Given the description of an element on the screen output the (x, y) to click on. 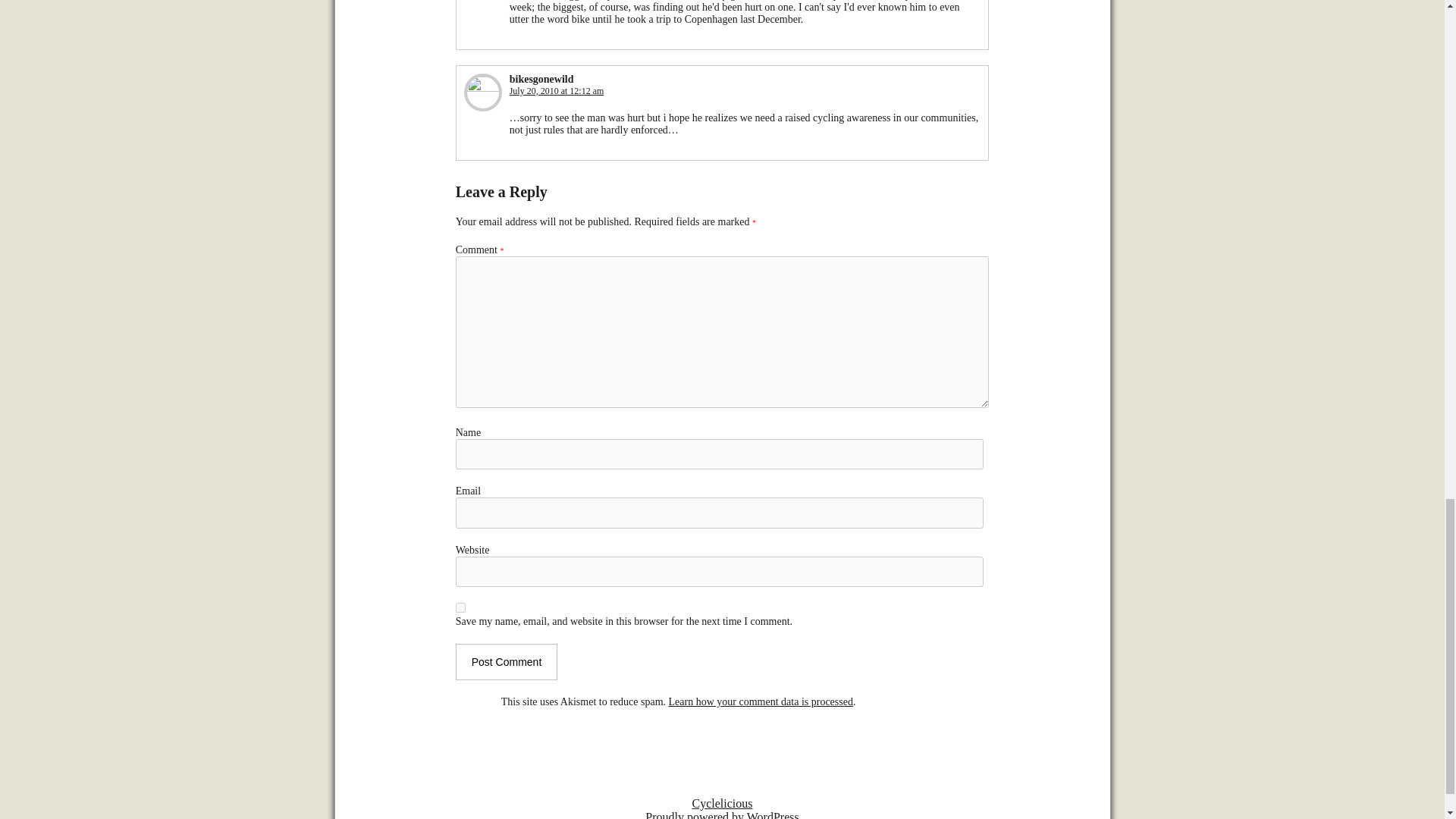
July 20, 2010 at 12:12 am (556, 90)
Post Comment (506, 661)
Cyclelicious (721, 802)
Learn how your comment data is processed (760, 701)
yes (460, 607)
Post Comment (506, 661)
